Given the description of an element on the screen output the (x, y) to click on. 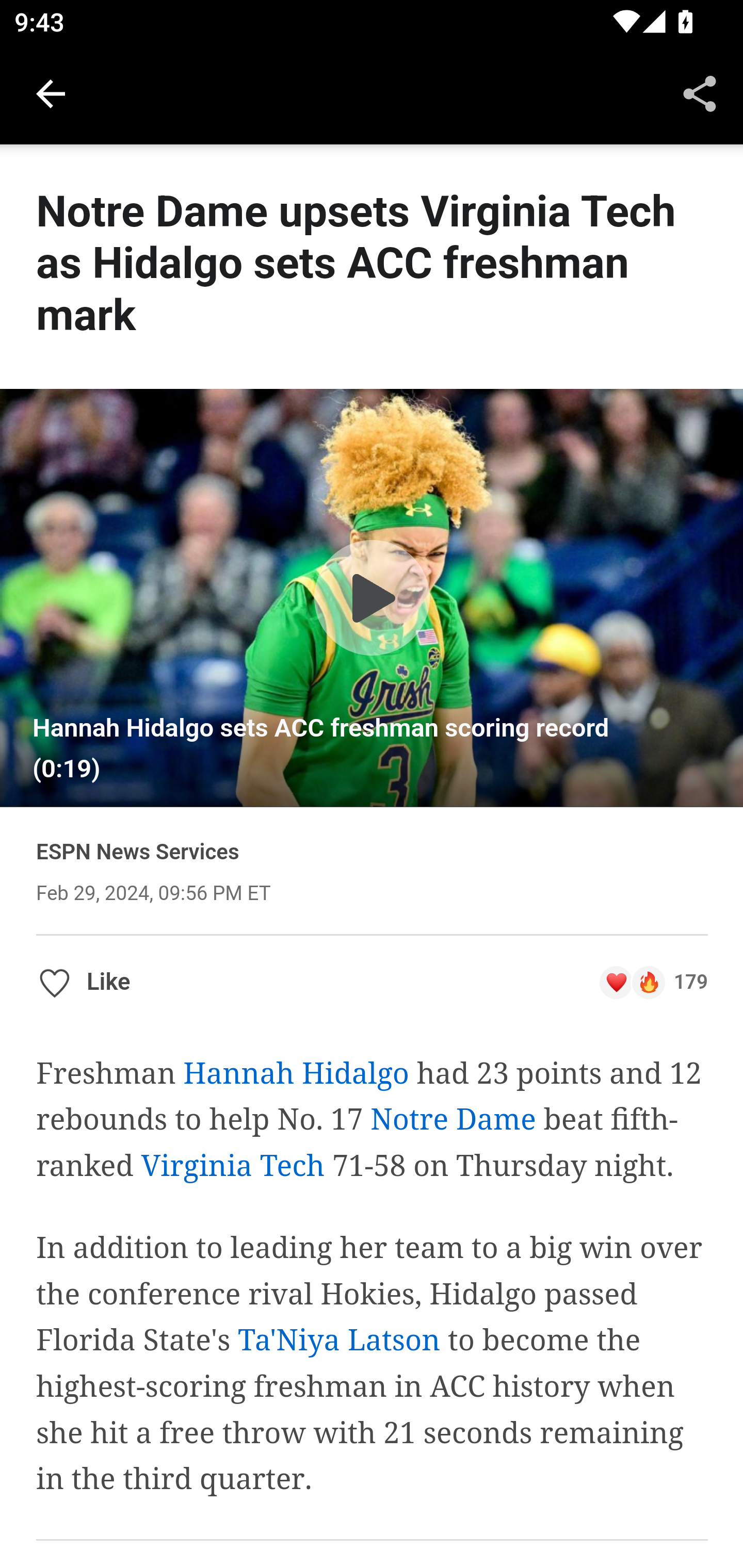
Navigate up (50, 93)
Share (699, 93)
